Given the description of an element on the screen output the (x, y) to click on. 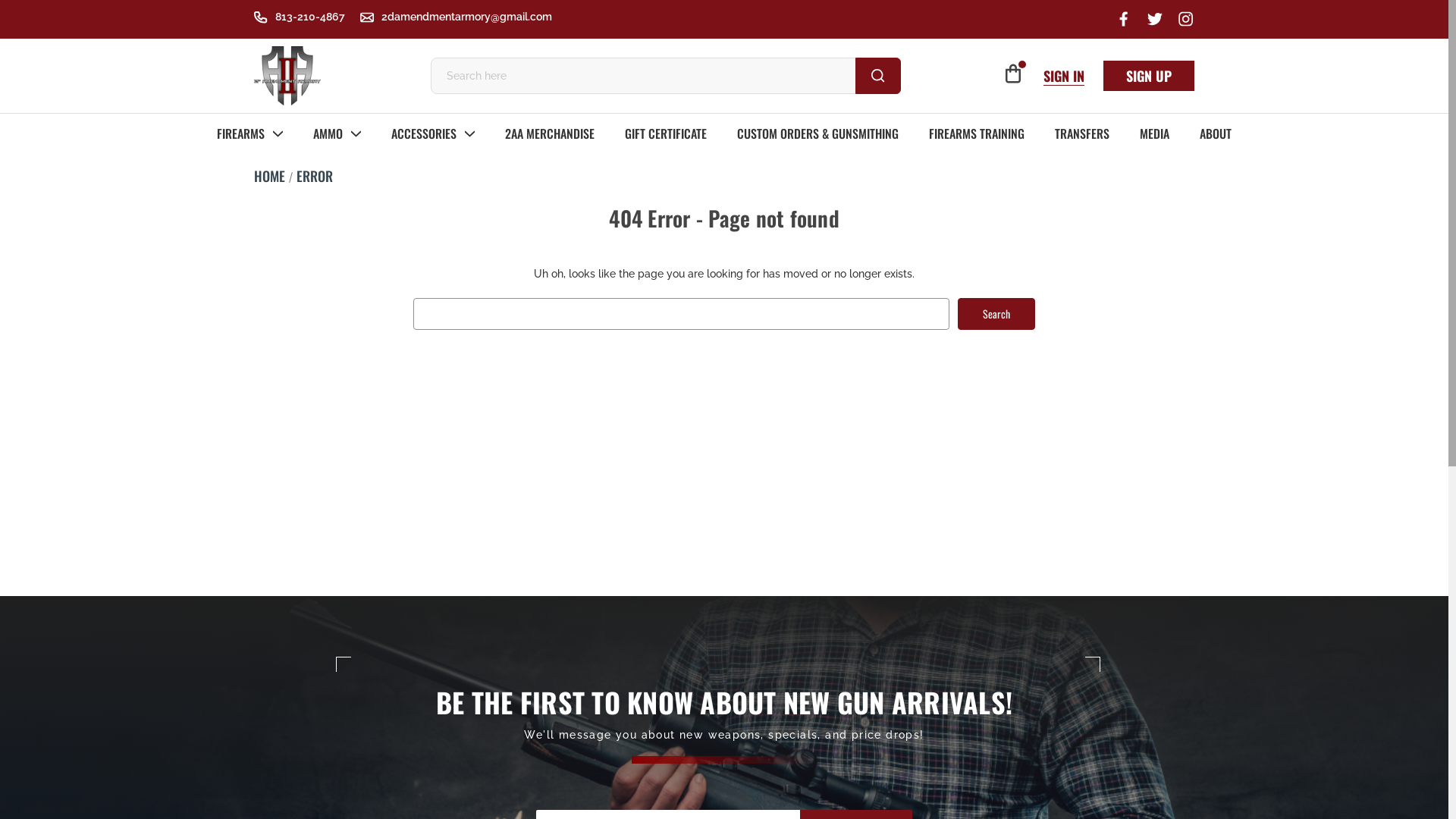
ABOUT Element type: text (1215, 133)
HOME Element type: text (269, 175)
0 Element type: text (1012, 73)
AMMO Element type: text (337, 133)
Twitter Element type: hover (1155, 18)
Instagram Element type: hover (1186, 18)
FIREARMS Element type: text (249, 133)
2nd Amendment Armory Element type: hover (287, 75)
GIFT CERTIFICATE Element type: text (665, 133)
CUSTOM ORDERS & GUNSMITHING Element type: text (817, 133)
Search Element type: text (23, 8)
MEDIA Element type: text (1154, 133)
ERROR Element type: text (313, 175)
ACCESSORIES Element type: text (432, 133)
FIREARMS TRAINING Element type: text (976, 133)
SIGN UP Element type: text (1148, 75)
Facebook Element type: hover (1124, 18)
813-210-4867 Element type: text (299, 17)
2AA MERCHANDISE Element type: text (549, 133)
2damendmentarmory@gmail.com Element type: text (456, 17)
SIGN IN Element type: text (1063, 75)
Search Element type: text (996, 313)
Search Element type: hover (877, 75)
TRANSFERS Element type: text (1081, 133)
